Given the description of an element on the screen output the (x, y) to click on. 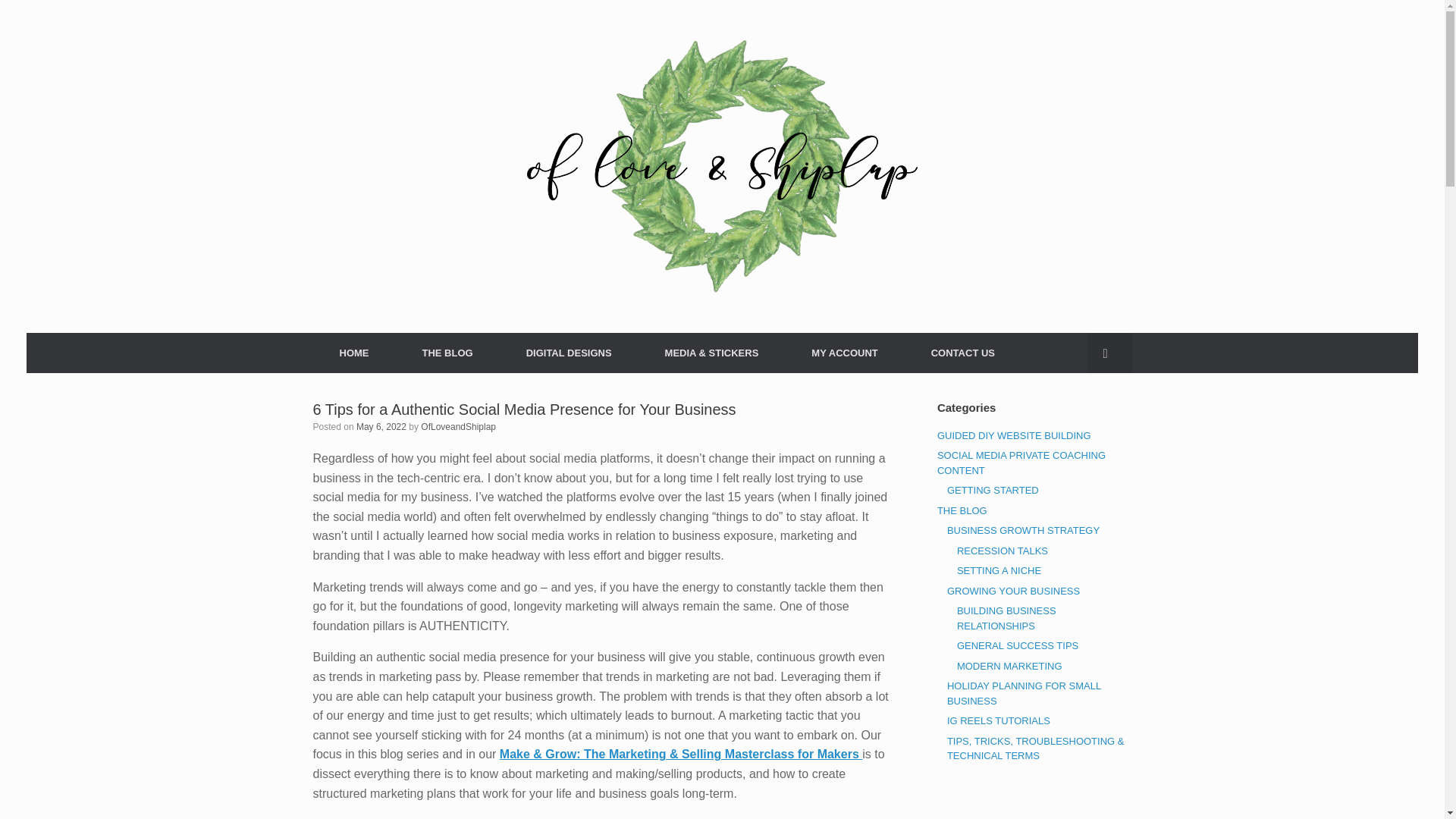
MODERN MARKETING (1009, 665)
GENERAL SUCCESS TIPS (1017, 645)
SOCIAL MEDIA PRIVATE COACHING CONTENT (1021, 462)
DIGITAL DESIGNS (569, 352)
CONTACT US (963, 352)
THE BLOG (962, 510)
View all posts by OfLoveandShiplap (458, 426)
HOME (353, 352)
RECESSION TALKS (1002, 550)
logo without background (722, 166)
BUILDING BUSINESS RELATIONSHIPS (1006, 618)
SETTING A NICHE (998, 570)
HOLIDAY PLANNING FOR SMALL BUSINESS (1023, 693)
IG REELS TUTORIALS (998, 720)
GUIDED DIY WEBSITE BUILDING (1013, 434)
